Given the description of an element on the screen output the (x, y) to click on. 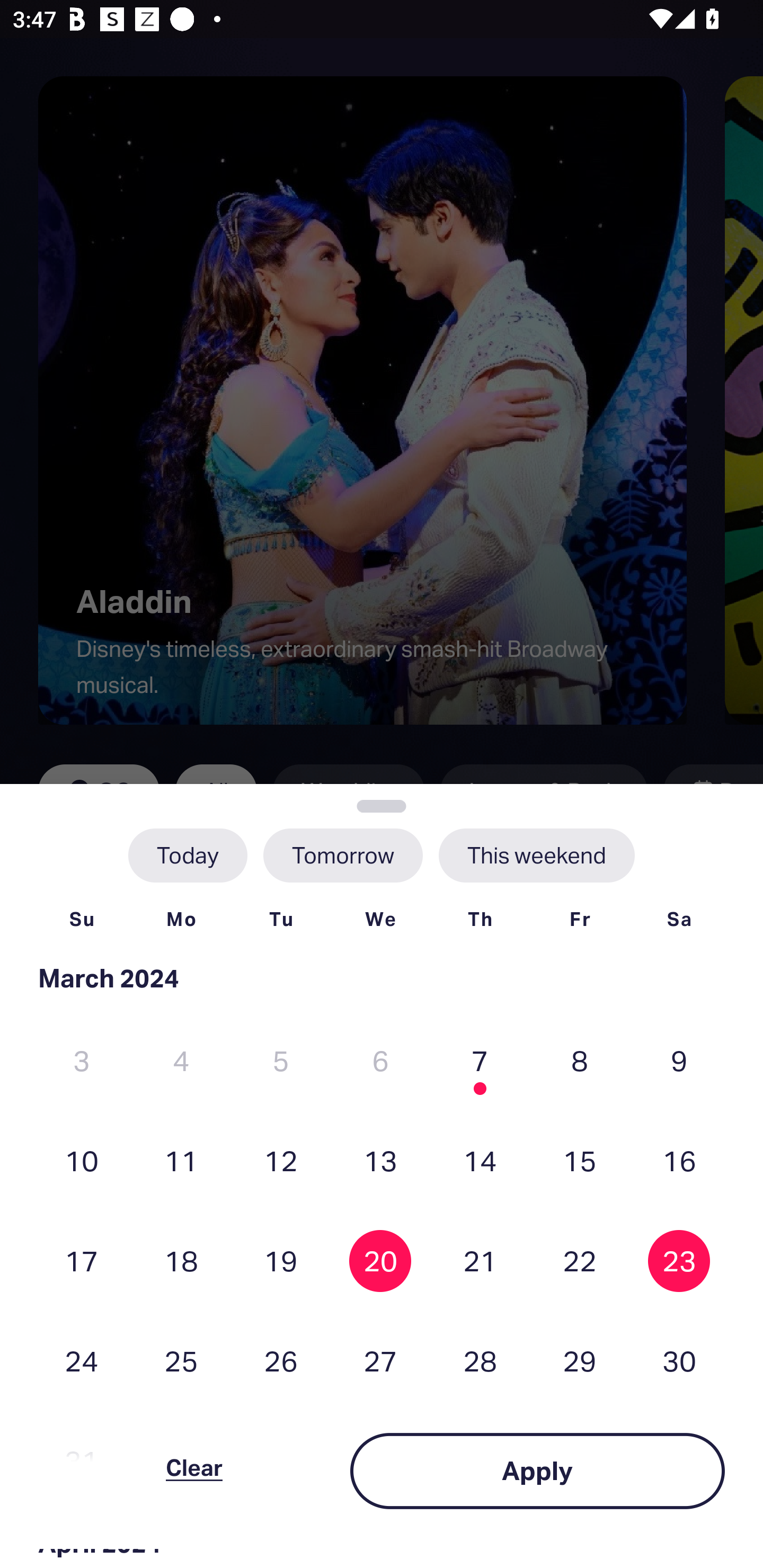
Today (187, 854)
Tomorrow (342, 854)
This weekend (536, 854)
3 (81, 1060)
4 (181, 1060)
5 (280, 1060)
6 (380, 1060)
7 (479, 1060)
8 (579, 1060)
9 (678, 1060)
10 (81, 1160)
11 (181, 1160)
12 (280, 1160)
13 (380, 1160)
14 (479, 1160)
15 (579, 1160)
16 (678, 1160)
17 (81, 1260)
18 (181, 1260)
19 (280, 1260)
20 (380, 1260)
21 (479, 1260)
22 (579, 1260)
23 (678, 1260)
24 (81, 1360)
25 (181, 1360)
26 (280, 1360)
27 (380, 1360)
28 (479, 1360)
29 (579, 1360)
30 (678, 1360)
Clear (194, 1470)
Apply (537, 1470)
